Given the description of an element on the screen output the (x, y) to click on. 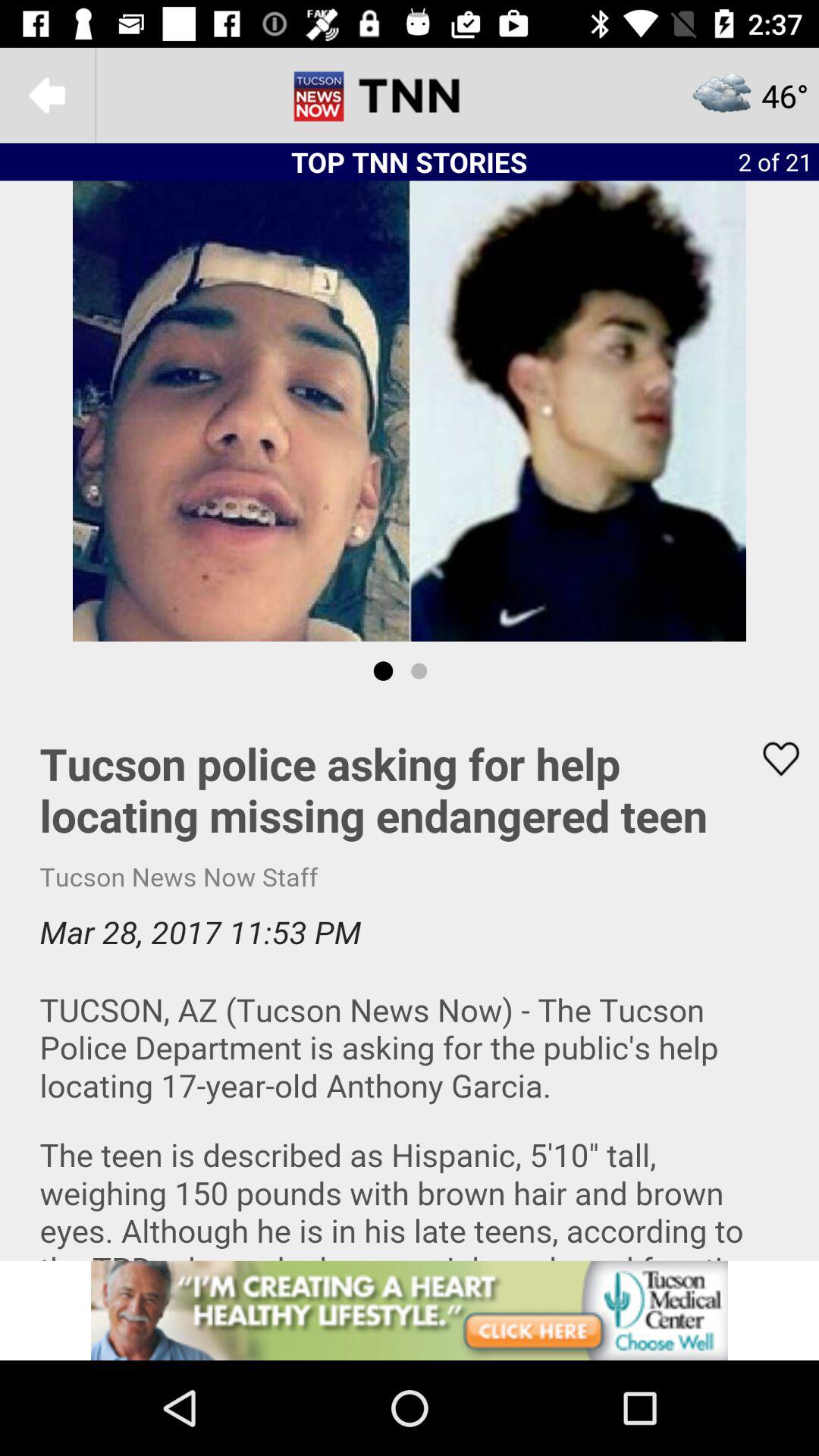
go back (47, 95)
